Given the description of an element on the screen output the (x, y) to click on. 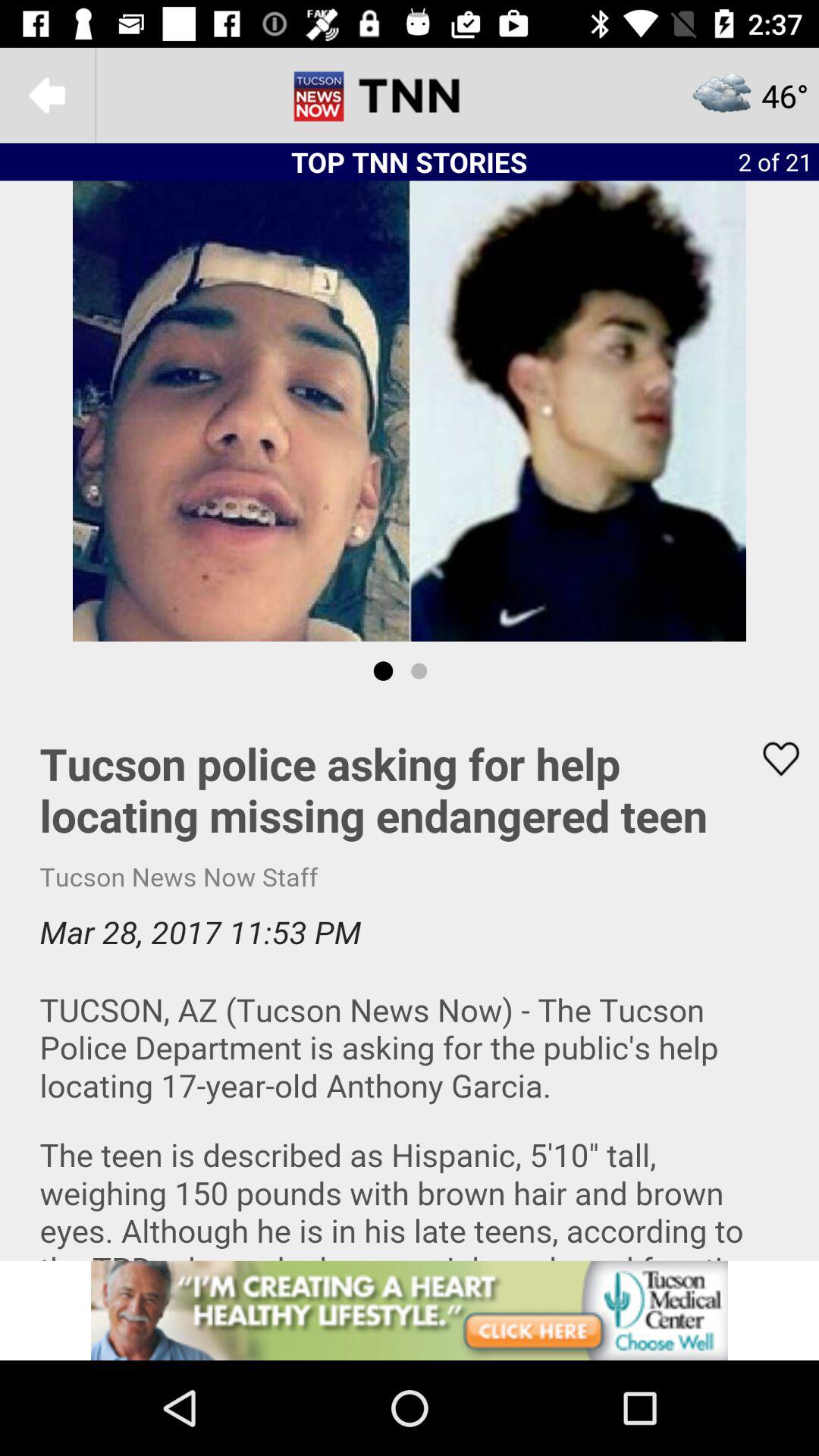
go back (47, 95)
